Given the description of an element on the screen output the (x, y) to click on. 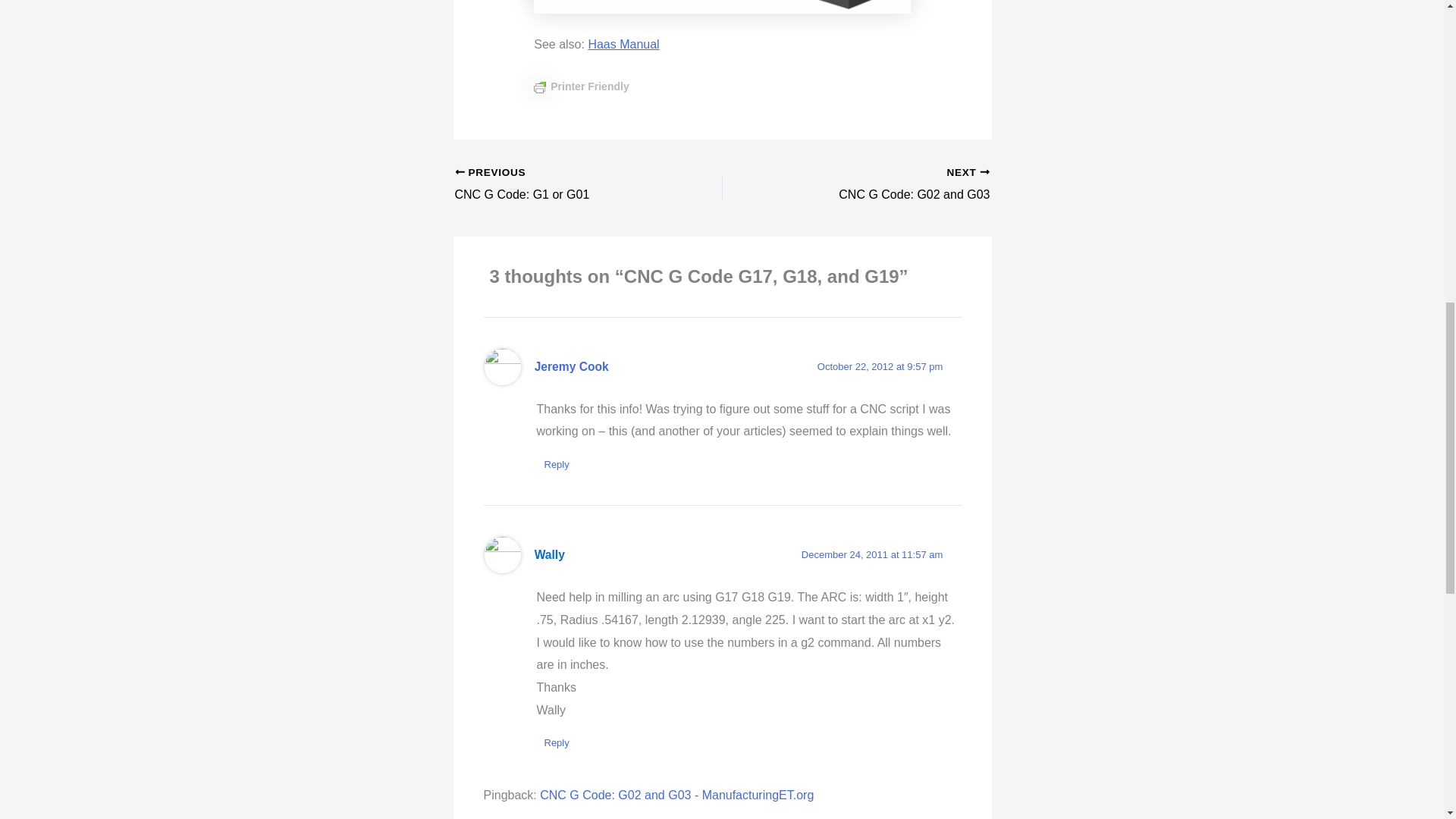
CNC G Code: G02 and G03 (882, 184)
CNC G Code: G1 or G01 (561, 184)
